Given the description of an element on the screen output the (x, y) to click on. 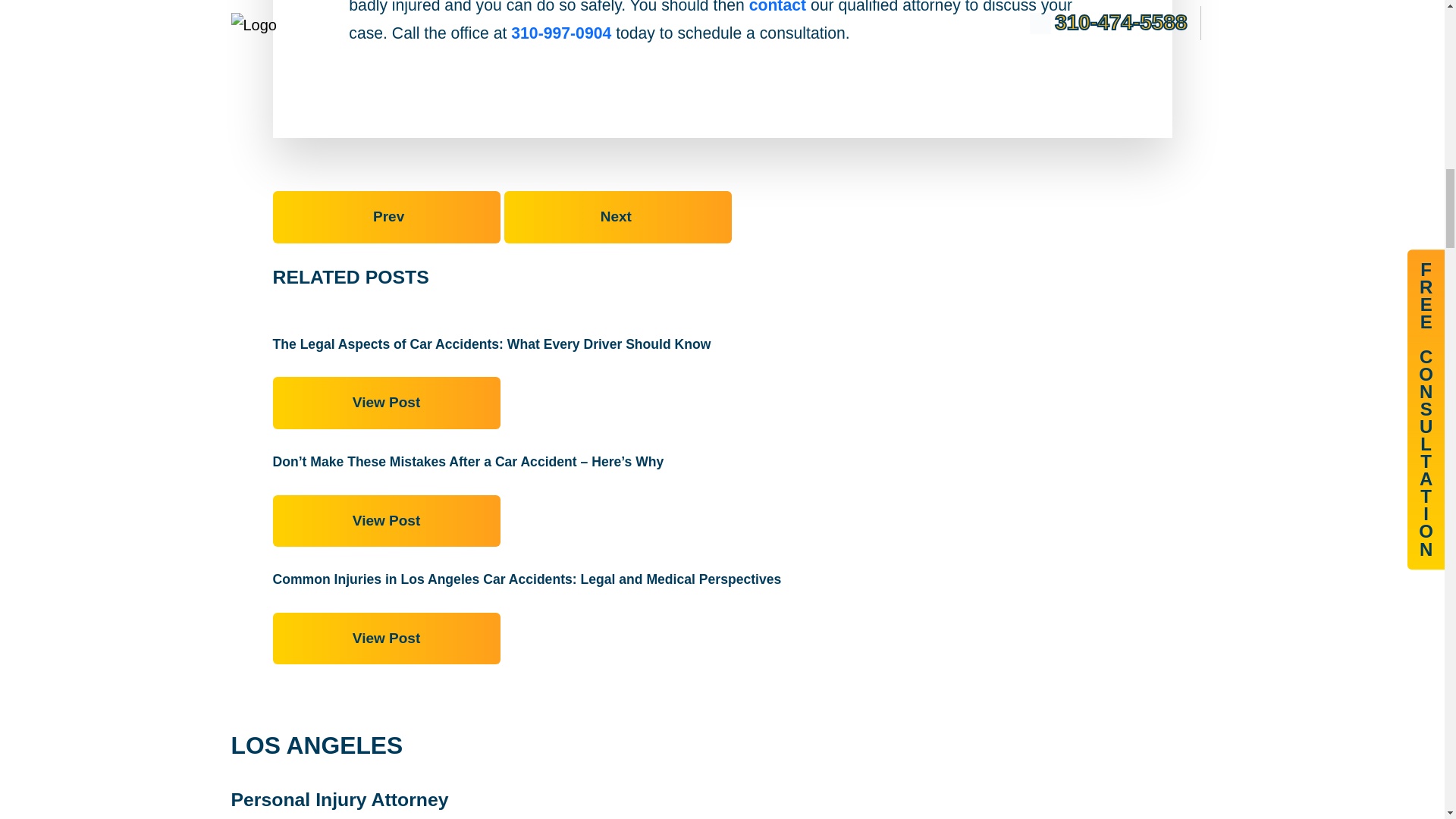
What are the Most Common Motorcycle Accident Injuries? (617, 216)
6 Important Safety Tips for Your Early-Morning Commute (386, 216)
